Given the description of an element on the screen output the (x, y) to click on. 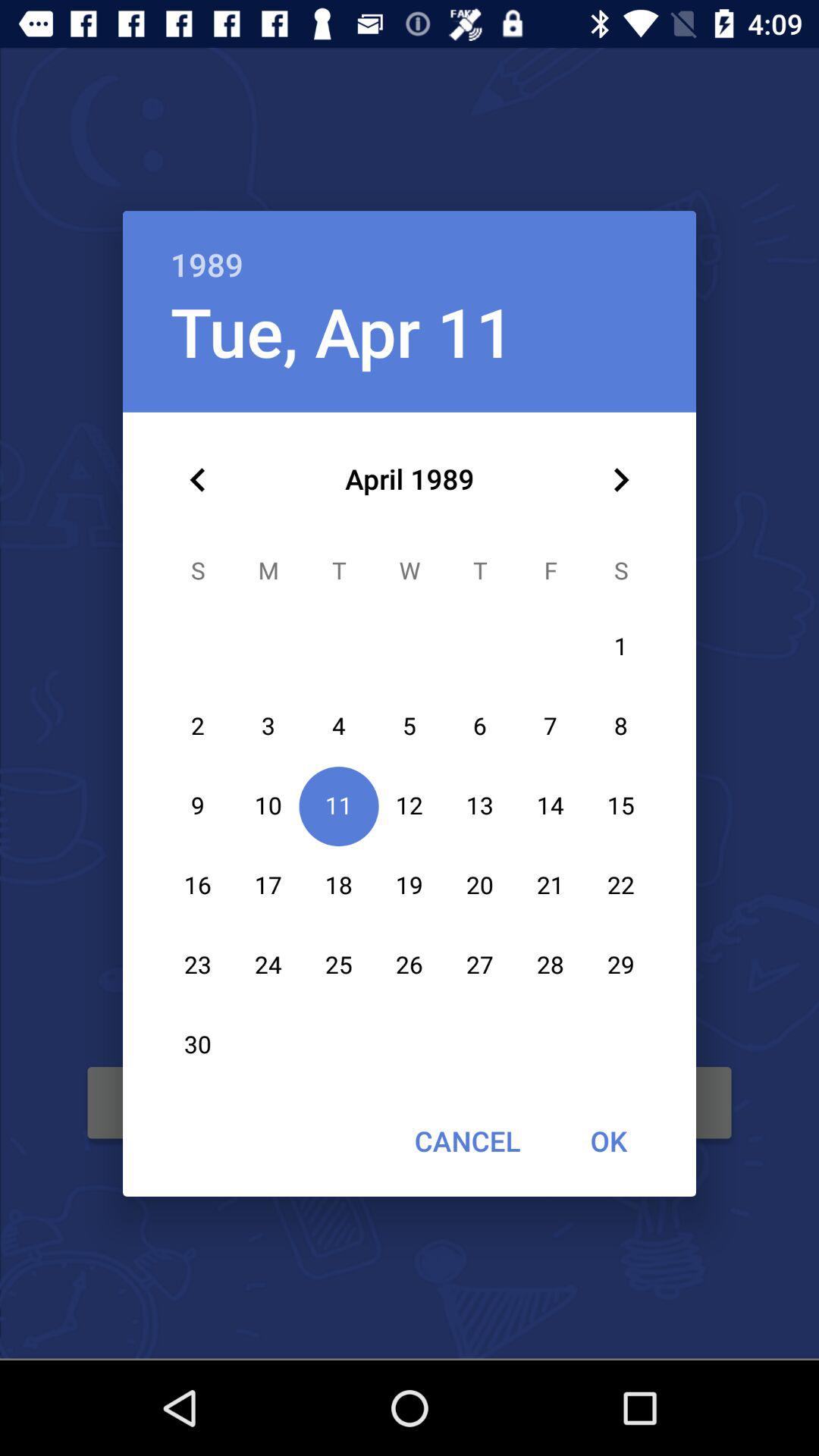
open ok at the bottom right corner (608, 1140)
